Given the description of an element on the screen output the (x, y) to click on. 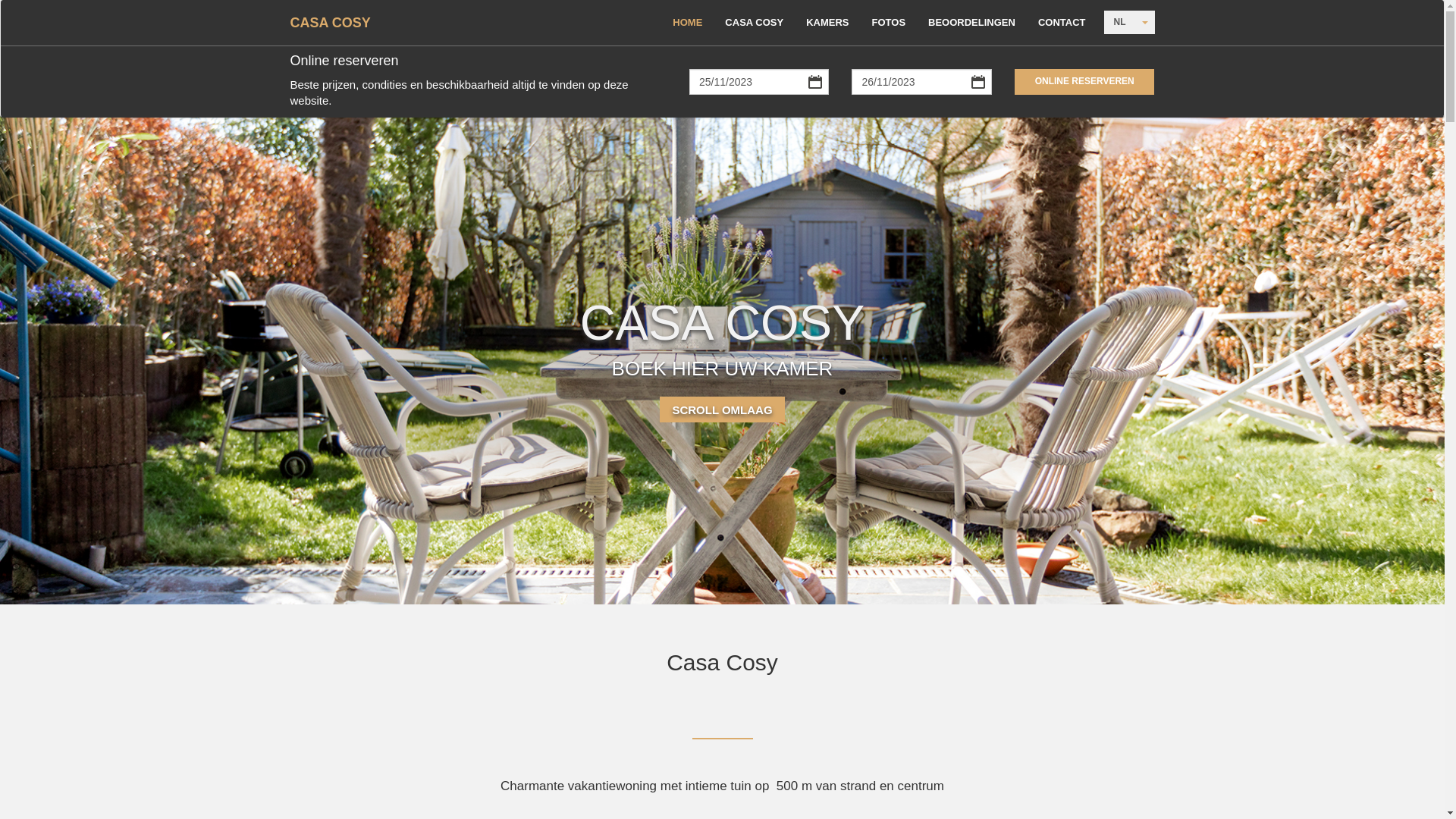
BOEK HIER UW KAMER Element type: text (722, 367)
Online reserveren Element type: text (1084, 81)
HOME Element type: text (687, 22)
TOGGLE LANGUAGE DROPDOWN Element type: text (1144, 22)
BEOORDELINGEN Element type: text (971, 22)
FOTOS Element type: text (888, 22)
CASA COSY Element type: text (753, 22)
CONTACT Element type: text (1061, 22)
SCROLL OMLAAG Element type: text (721, 409)
KAMERS Element type: text (826, 22)
CASA COSY Element type: text (329, 22)
NL Element type: text (1119, 22)
